Given the description of an element on the screen output the (x, y) to click on. 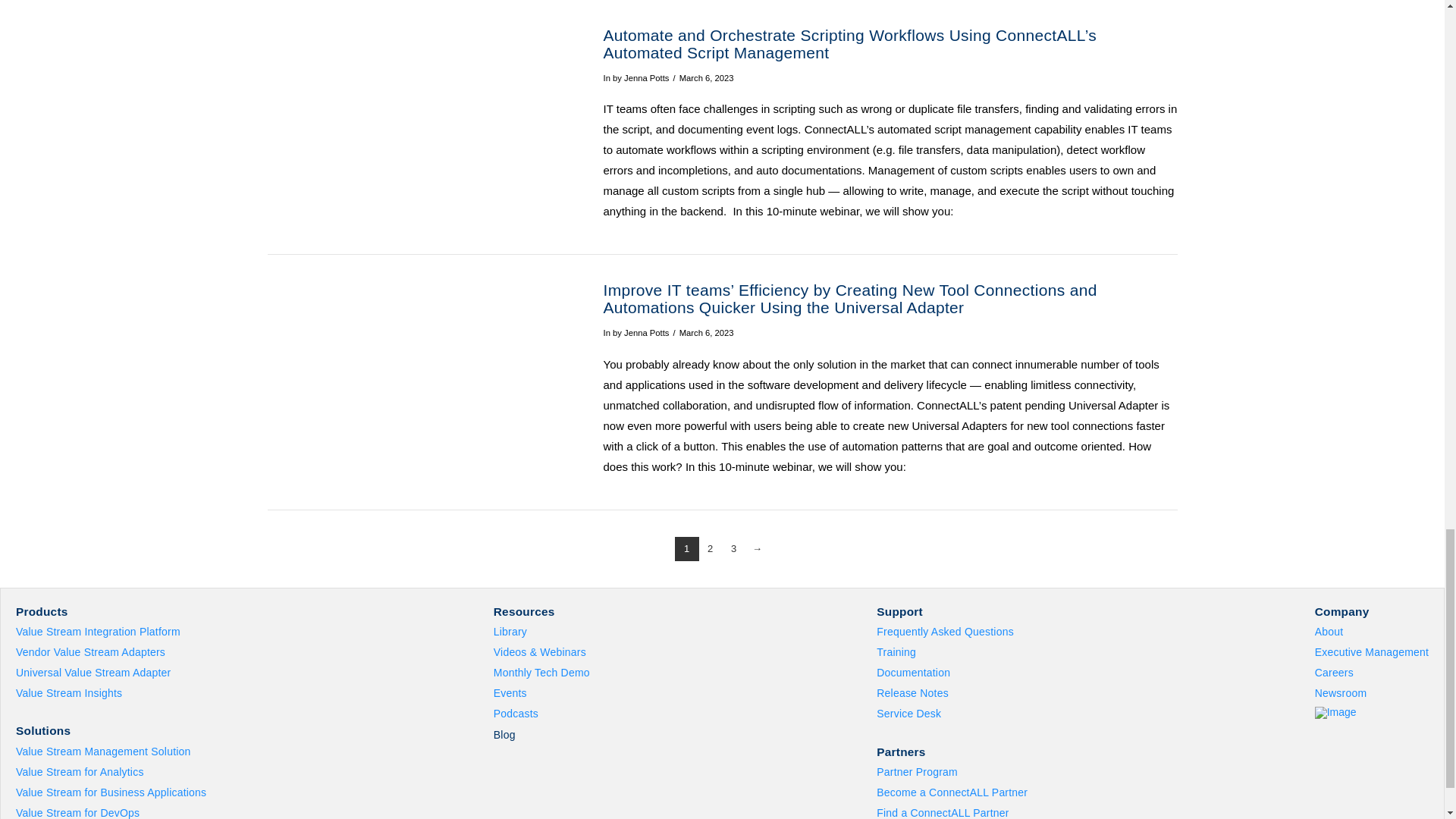
3 (733, 549)
2 (709, 549)
